Given the description of an element on the screen output the (x, y) to click on. 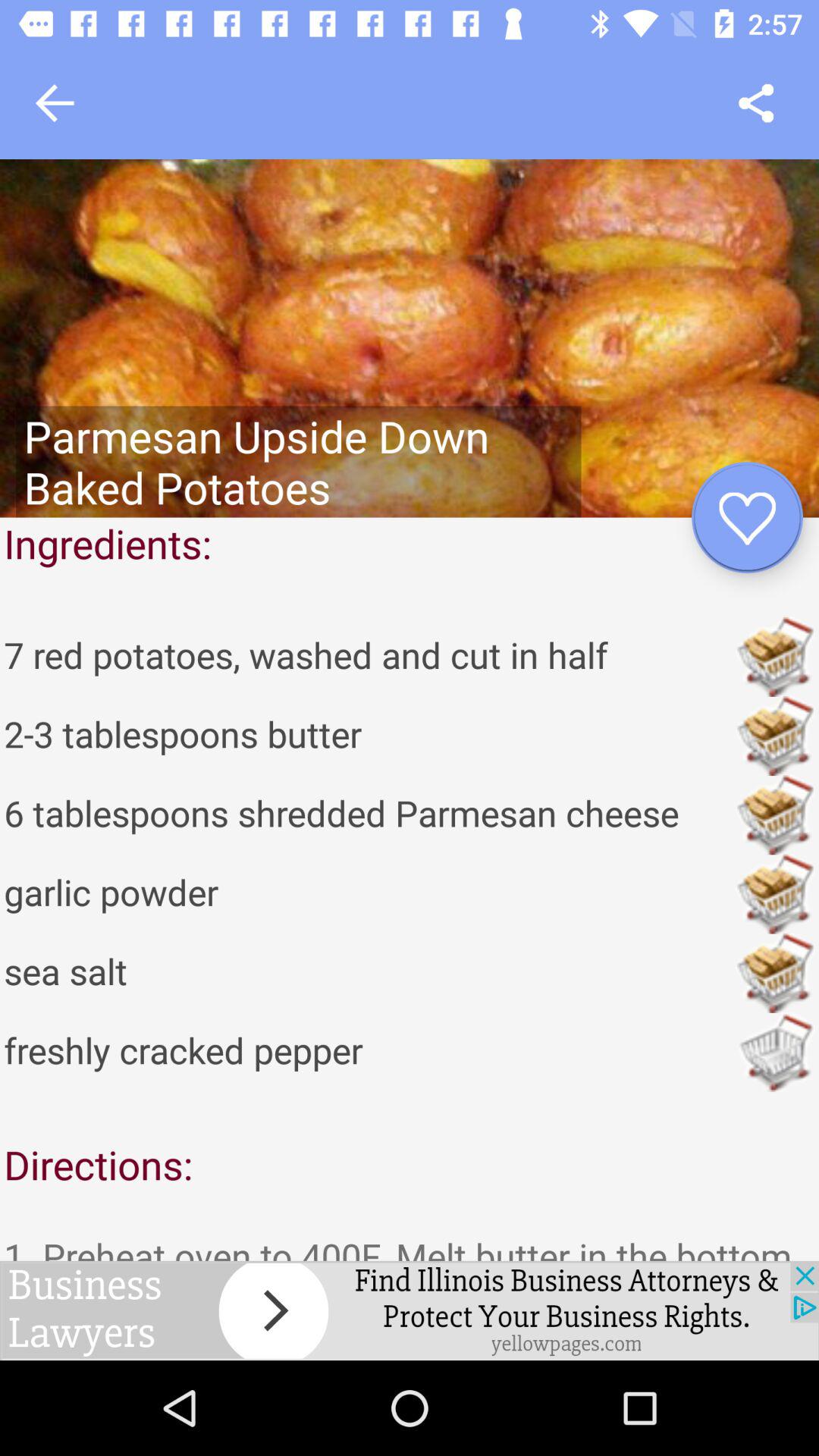
back button (54, 103)
